Given the description of an element on the screen output the (x, y) to click on. 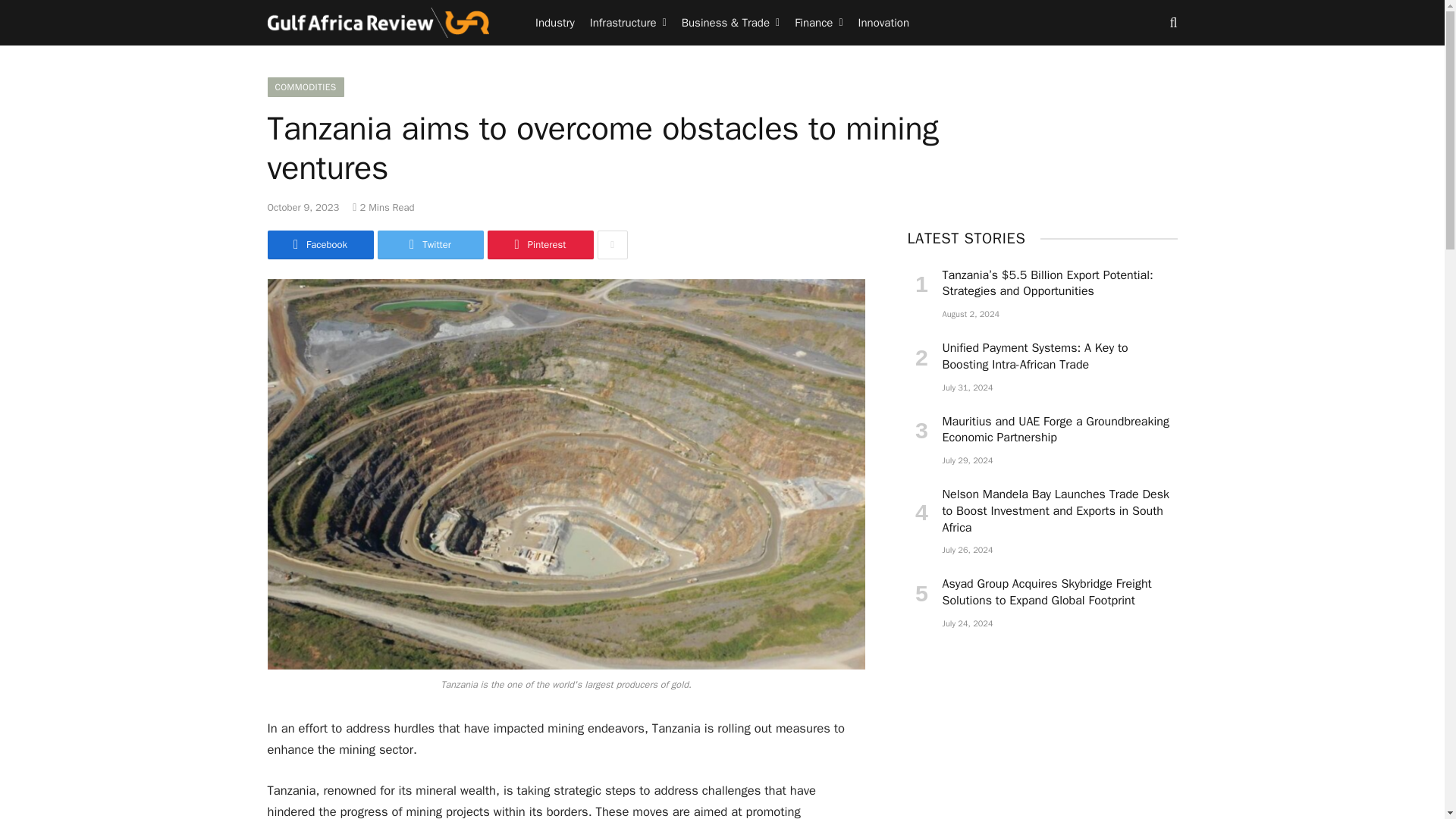
Infrastructure (628, 22)
Industry (554, 22)
Gulf Africa Review (377, 22)
